Given the description of an element on the screen output the (x, y) to click on. 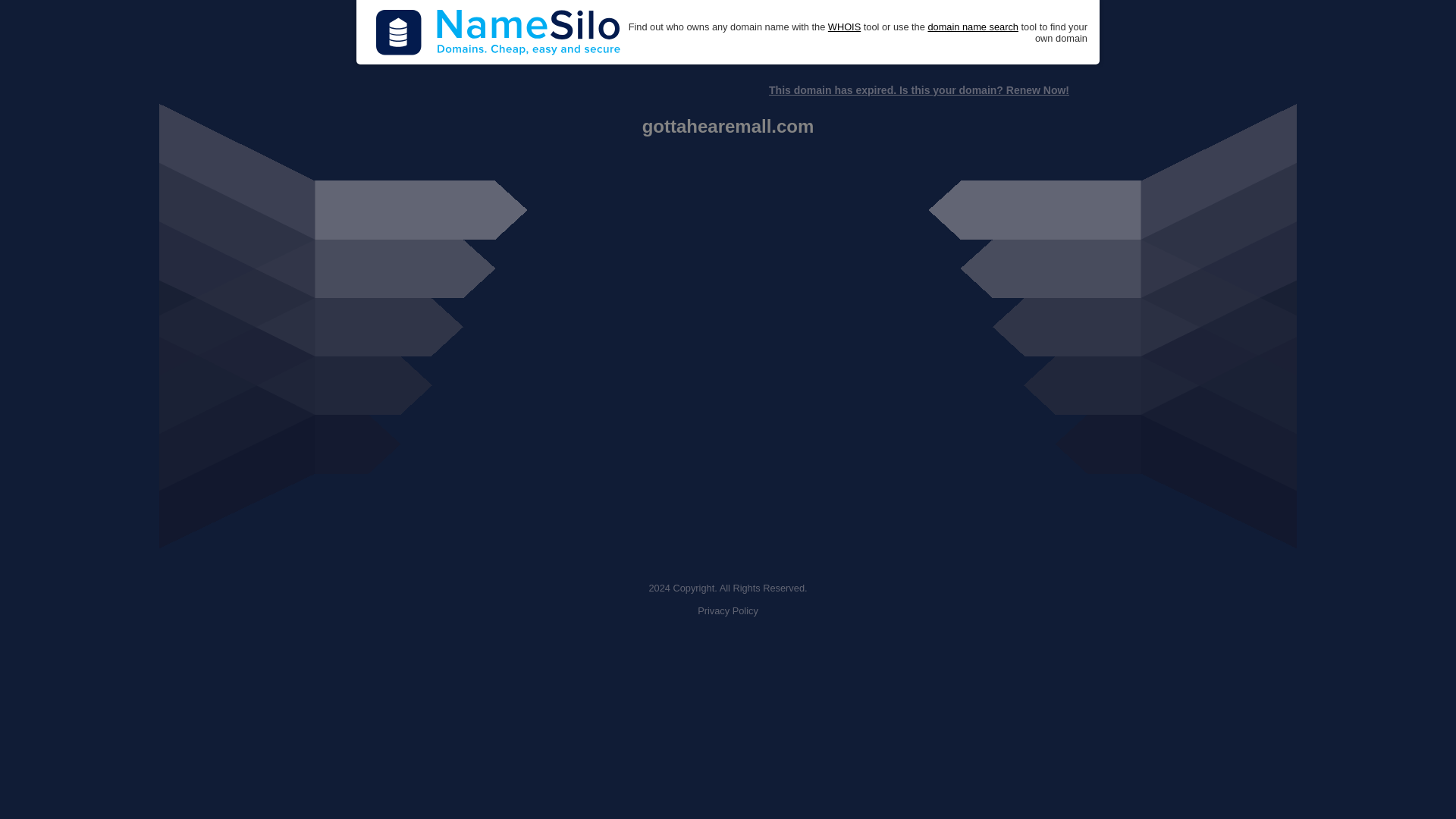
Privacy Policy (727, 610)
This domain has expired. Is this your domain? Renew Now! (918, 90)
WHOIS (844, 26)
domain name search (972, 26)
